Given the description of an element on the screen output the (x, y) to click on. 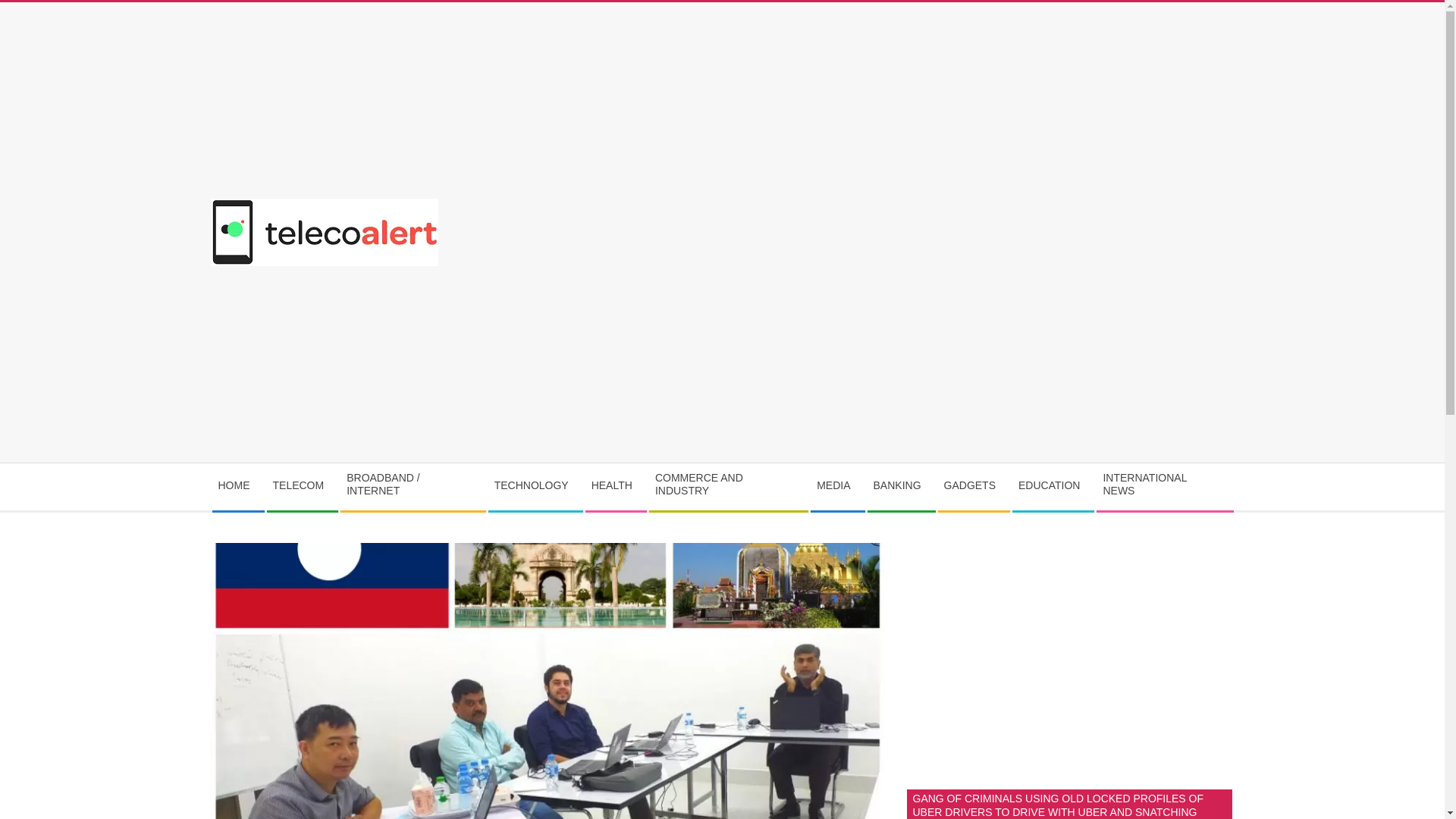
TECHNOLOGY (534, 486)
COMMERCE AND INDUSTRY (728, 486)
MEDIA (836, 486)
HOME (237, 486)
Advertisement (977, 348)
BANKING (901, 486)
EDUCATION (1052, 486)
HEALTH (615, 486)
TELECOM (301, 486)
Advertisement (1070, 648)
